Given the description of an element on the screen output the (x, y) to click on. 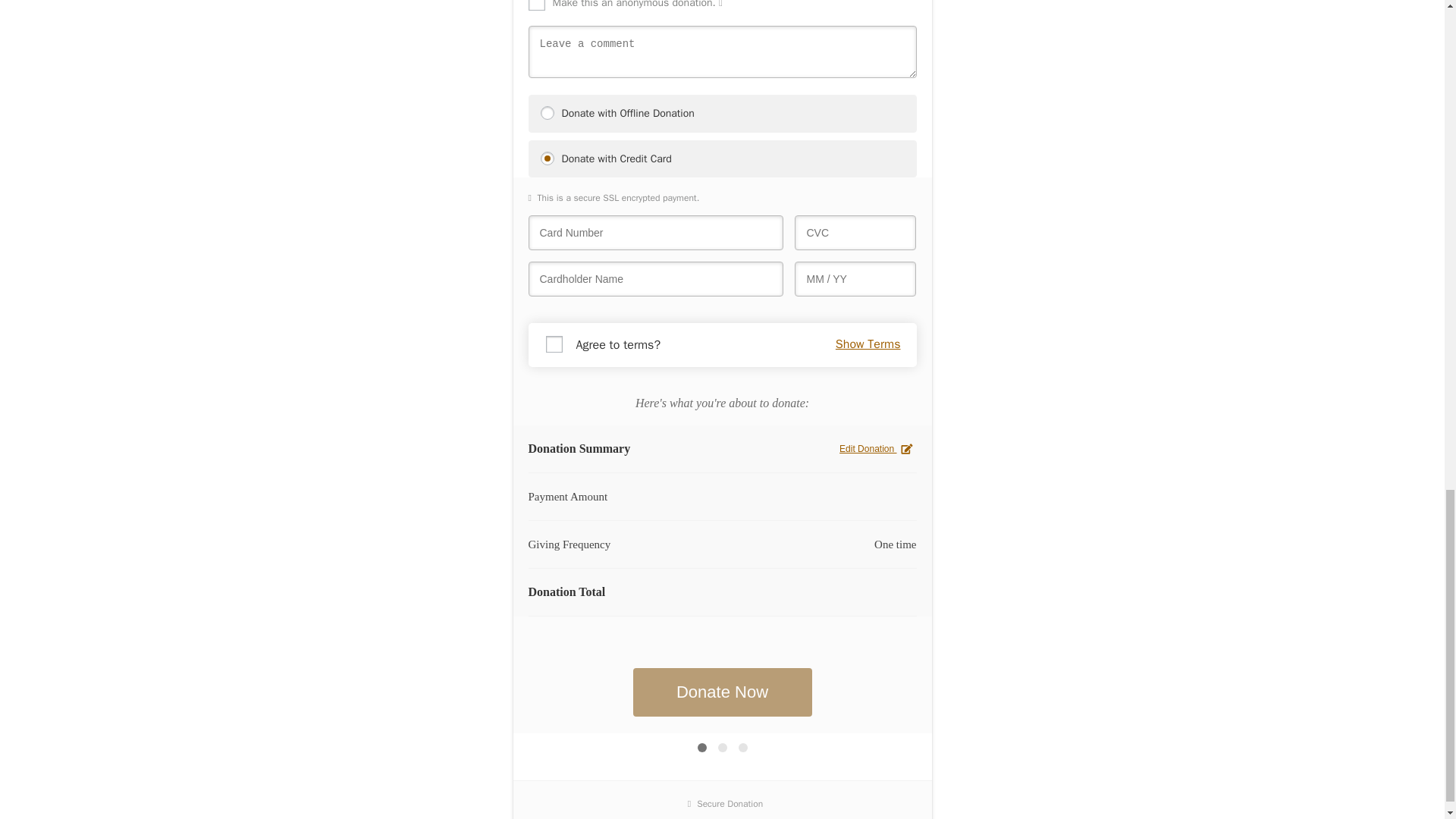
Donate Now (720, 692)
Show Terms (868, 344)
Edit Donation (877, 448)
Donate Now (720, 692)
